Given the description of an element on the screen output the (x, y) to click on. 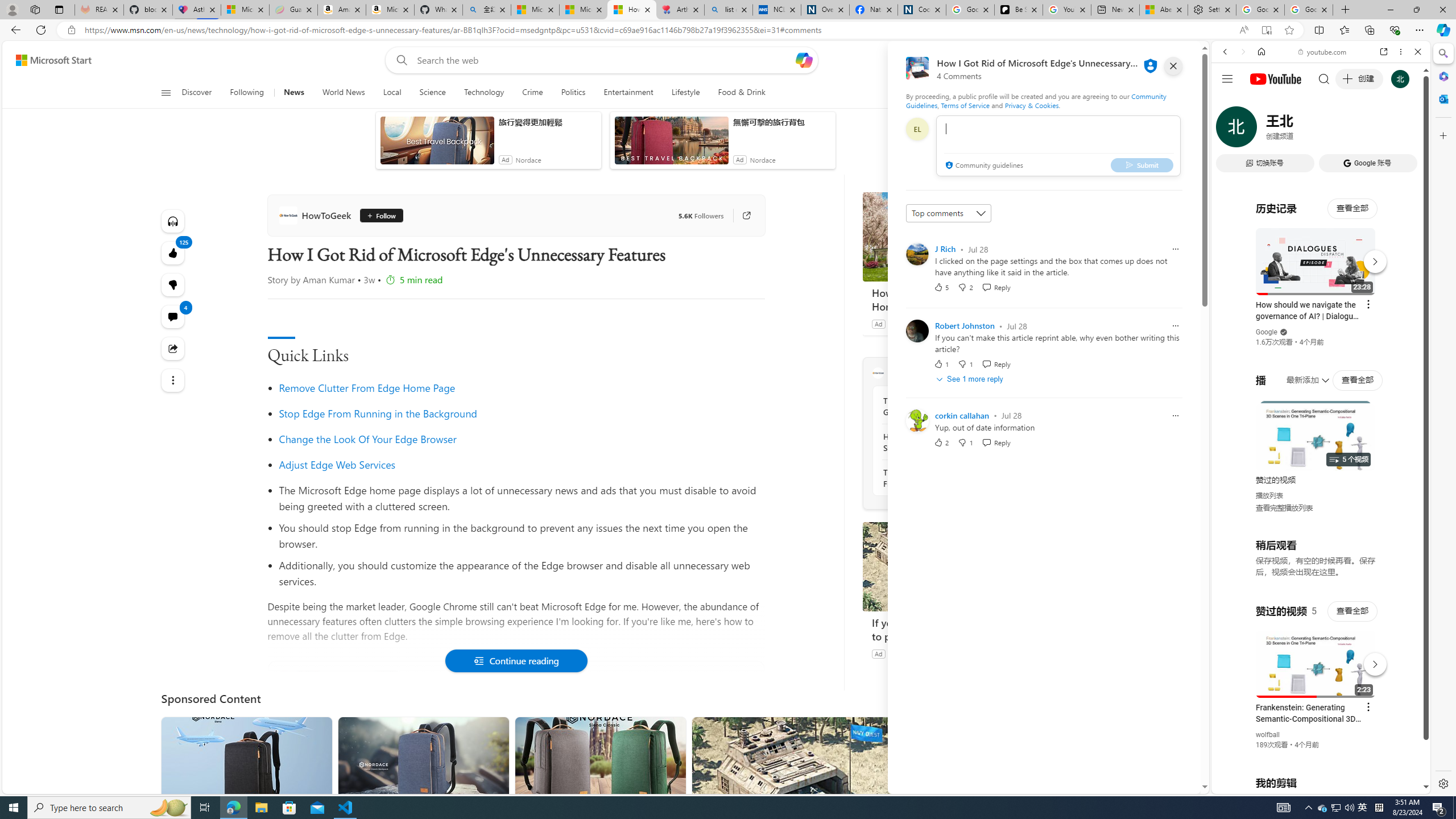
YouTube - YouTube (1315, 560)
Global web icon (1232, 655)
Entertainment (628, 92)
Web scope (1230, 102)
Close (1417, 51)
Enter your search term (603, 59)
Collections (1369, 29)
close (1173, 65)
wolfball (1268, 734)
New tab (1115, 9)
Side bar (1443, 418)
Close Outlook pane (1442, 98)
Click to scroll right (1407, 456)
Minimize (1390, 9)
Remove Clutter From Edge Home Page (366, 387)
